Given the description of an element on the screen output the (x, y) to click on. 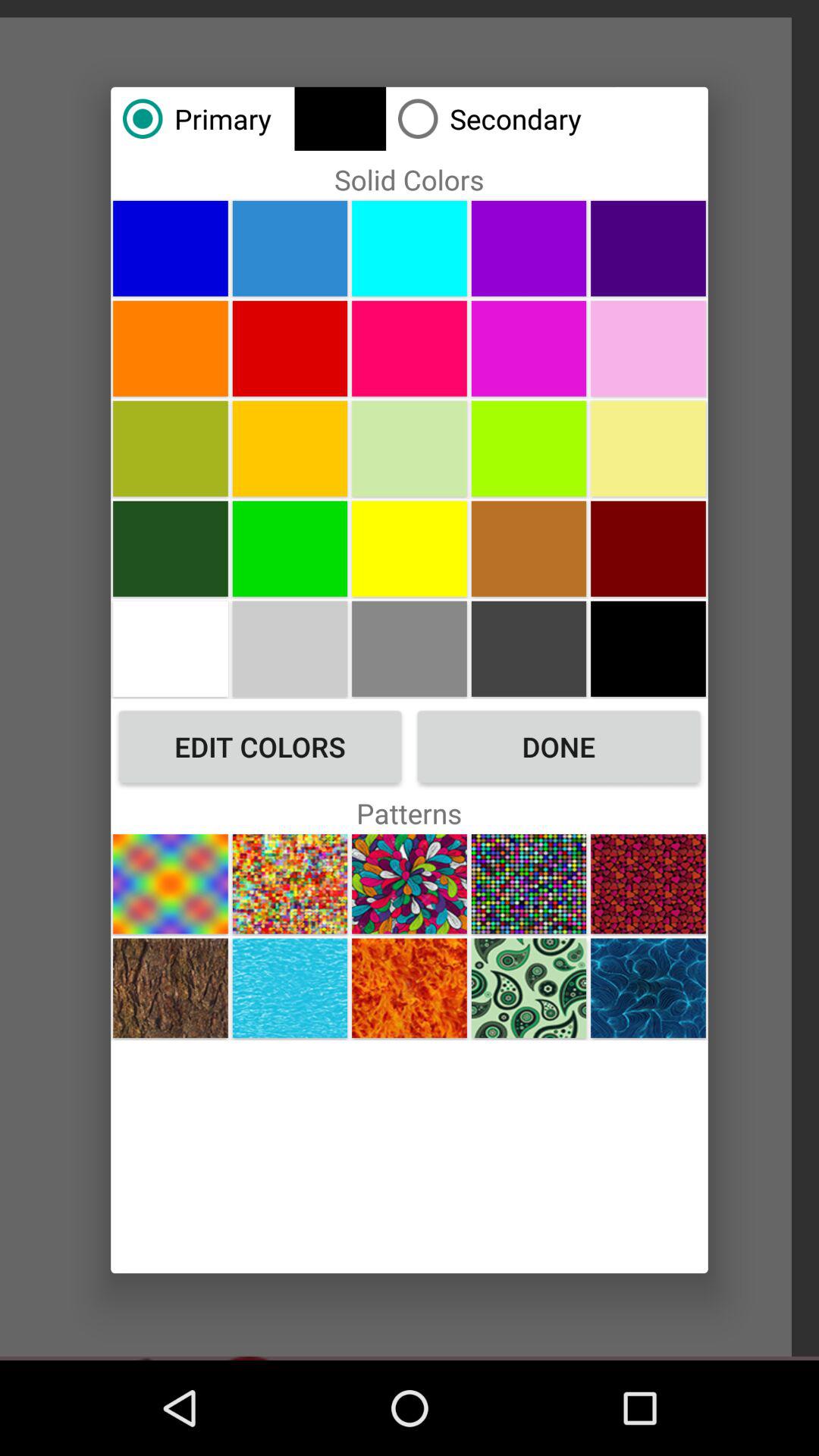
choose pattern (170, 987)
